Given the description of an element on the screen output the (x, y) to click on. 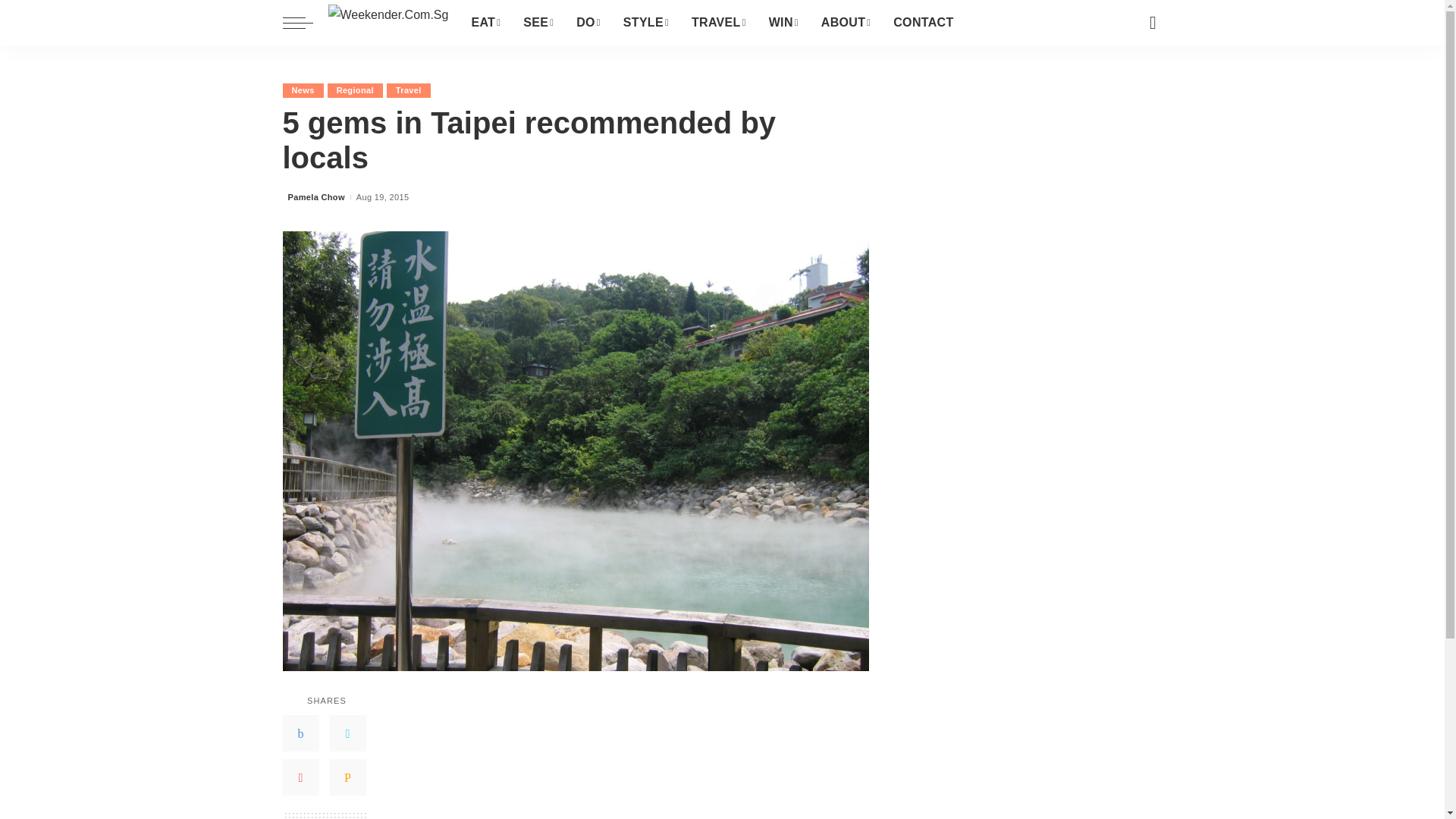
Weekender.Com.Sg (387, 22)
Facebook (300, 732)
Twitter (347, 732)
Pinterest (300, 777)
Email (347, 777)
